Given the description of an element on the screen output the (x, y) to click on. 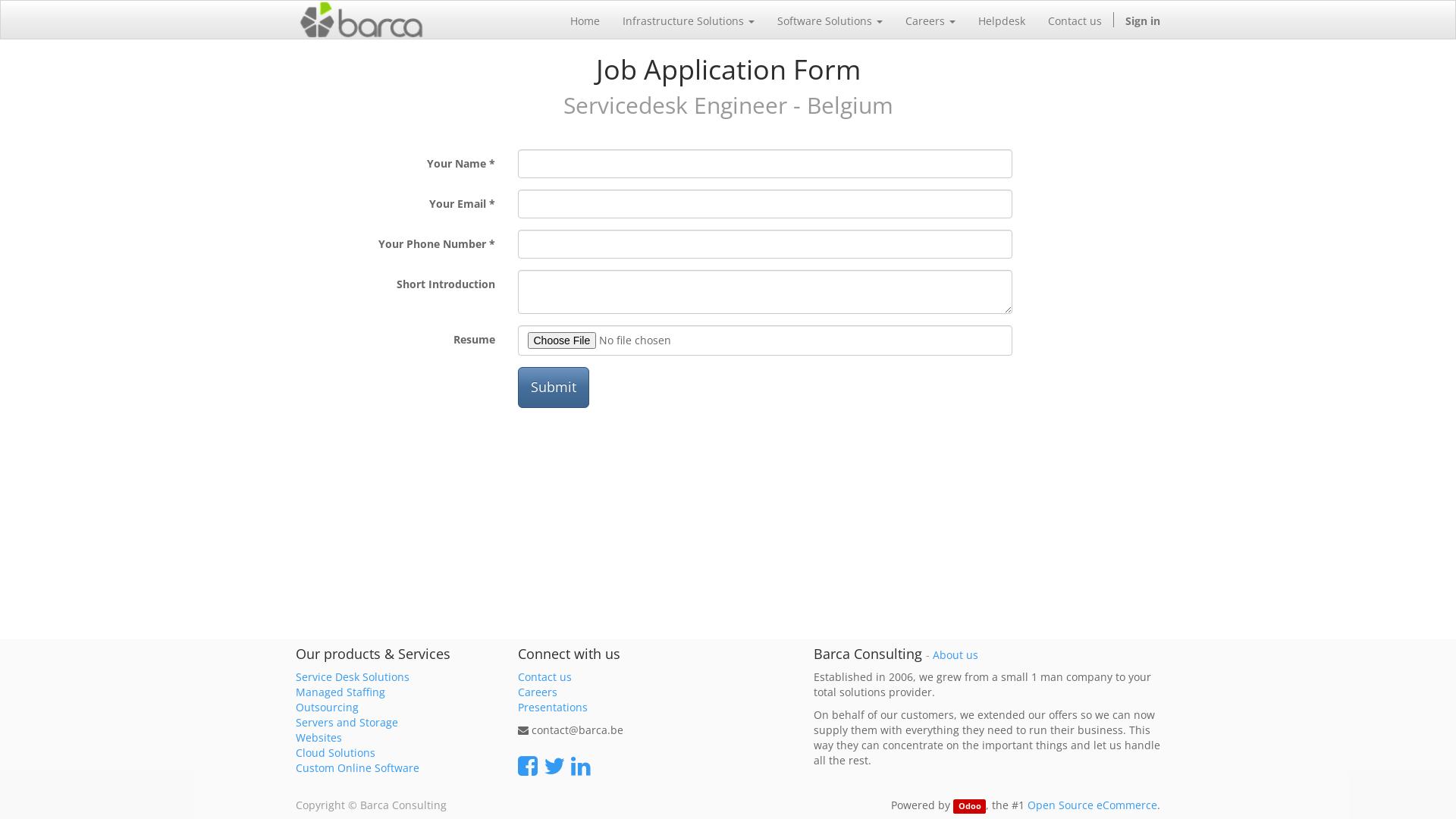
Servers and Storage Element type: text (346, 722)
Software Solutions Element type: text (829, 19)
Submit Element type: text (552, 387)
Infrastructure Solutions Element type: text (688, 19)
Cloud Solutions Element type: text (335, 752)
Careers Element type: text (536, 691)
Careers Element type: text (930, 19)
Sign in Element type: text (1142, 19)
Contact us Element type: text (544, 676)
Custom Online Software Element type: text (357, 767)
Service Desk Solutions Element type: text (352, 676)
Websites Element type: text (318, 737)
Outsourcing Element type: text (326, 706)
Odoo Element type: text (969, 806)
About us Element type: text (955, 655)
Open Source eCommerce Element type: text (1092, 804)
Barca Consulting Element type: hover (360, 19)
Managed Staffing Element type: text (340, 691)
Presentations Element type: text (551, 706)
Home Element type: text (584, 19)
Helpdesk Element type: text (1001, 19)
Contact us Element type: text (1074, 19)
